Given the description of an element on the screen output the (x, y) to click on. 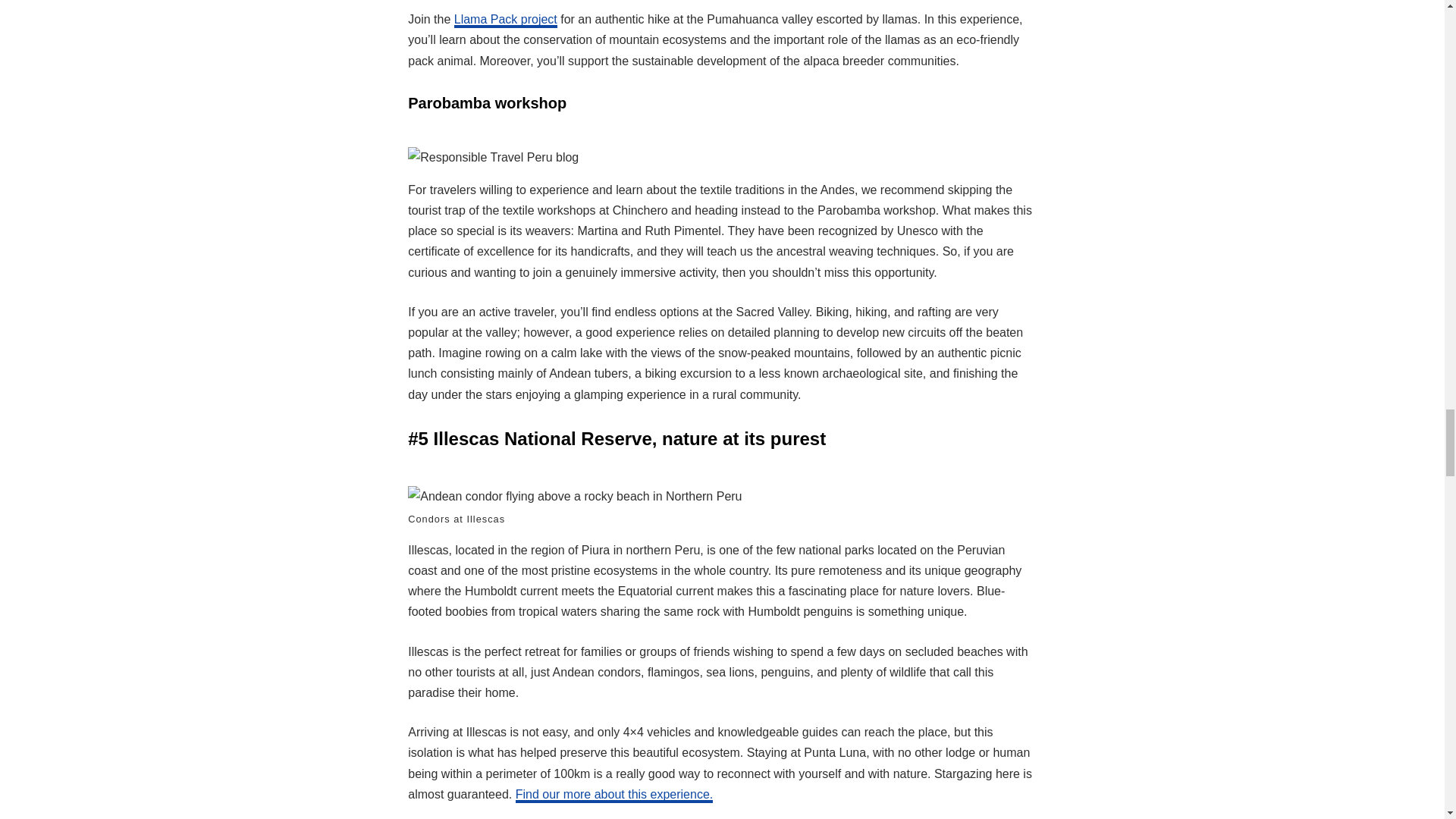
Llama Pack project (505, 21)
Find our more about this experience. (614, 795)
